Given the description of an element on the screen output the (x, y) to click on. 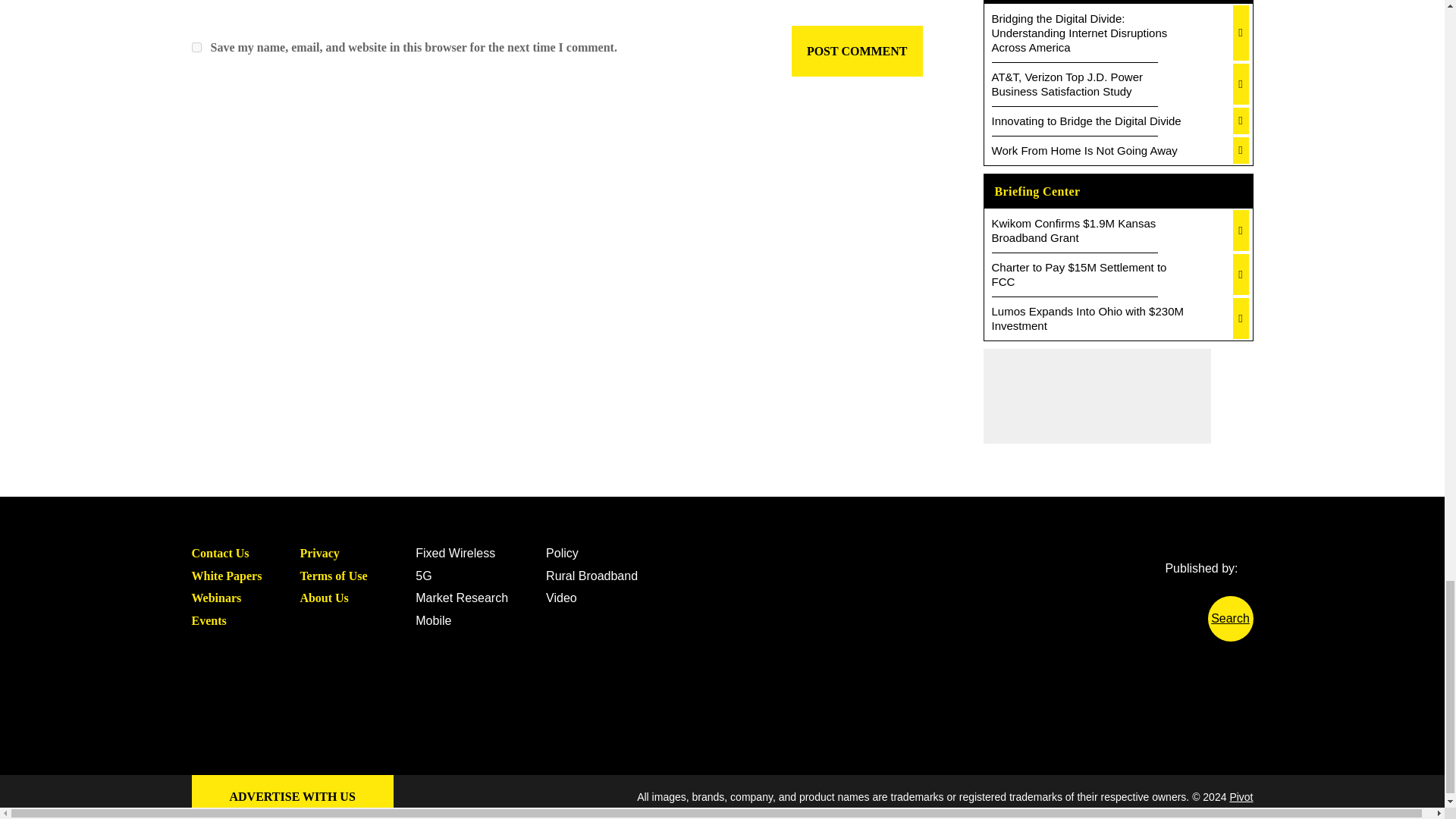
yes (195, 47)
Post Comment (857, 50)
